Given the description of an element on the screen output the (x, y) to click on. 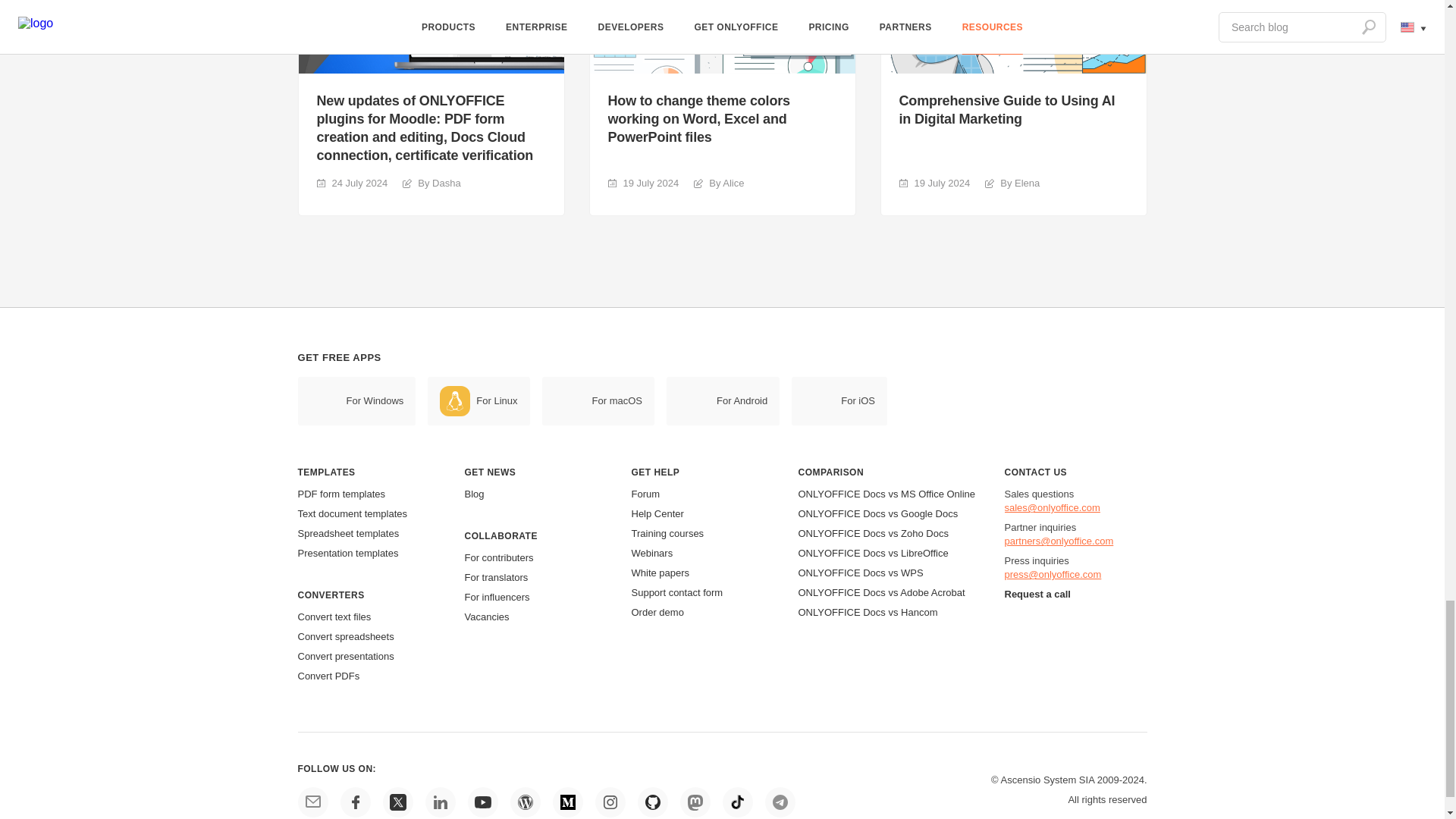
Medium (566, 802)
GitHub (651, 802)
TikTok (737, 802)
Instagram (609, 802)
YouTube (482, 802)
Blog (524, 802)
Fosstodon (694, 802)
Telegram (779, 802)
Twitter (396, 802)
Facebook (354, 802)
OnlyOffice (312, 802)
LinkedIn (439, 802)
